Given the description of an element on the screen output the (x, y) to click on. 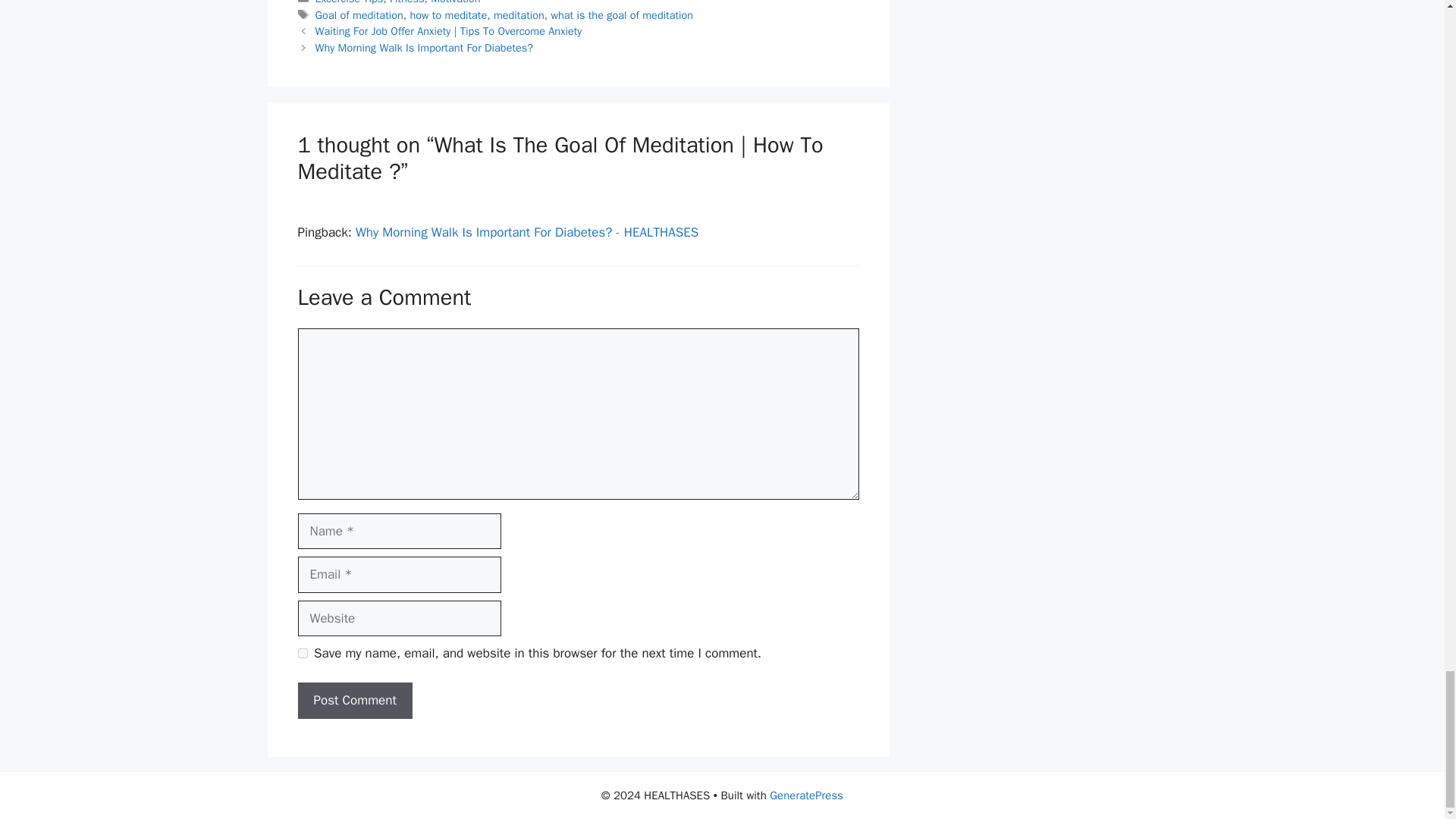
Goal of meditation (359, 15)
Post Comment (354, 700)
Fitness (407, 2)
yes (302, 653)
what is the goal of meditation (621, 15)
how to meditate (447, 15)
Excercise Tips (349, 2)
meditation (518, 15)
Motivation (455, 2)
